Given the description of an element on the screen output the (x, y) to click on. 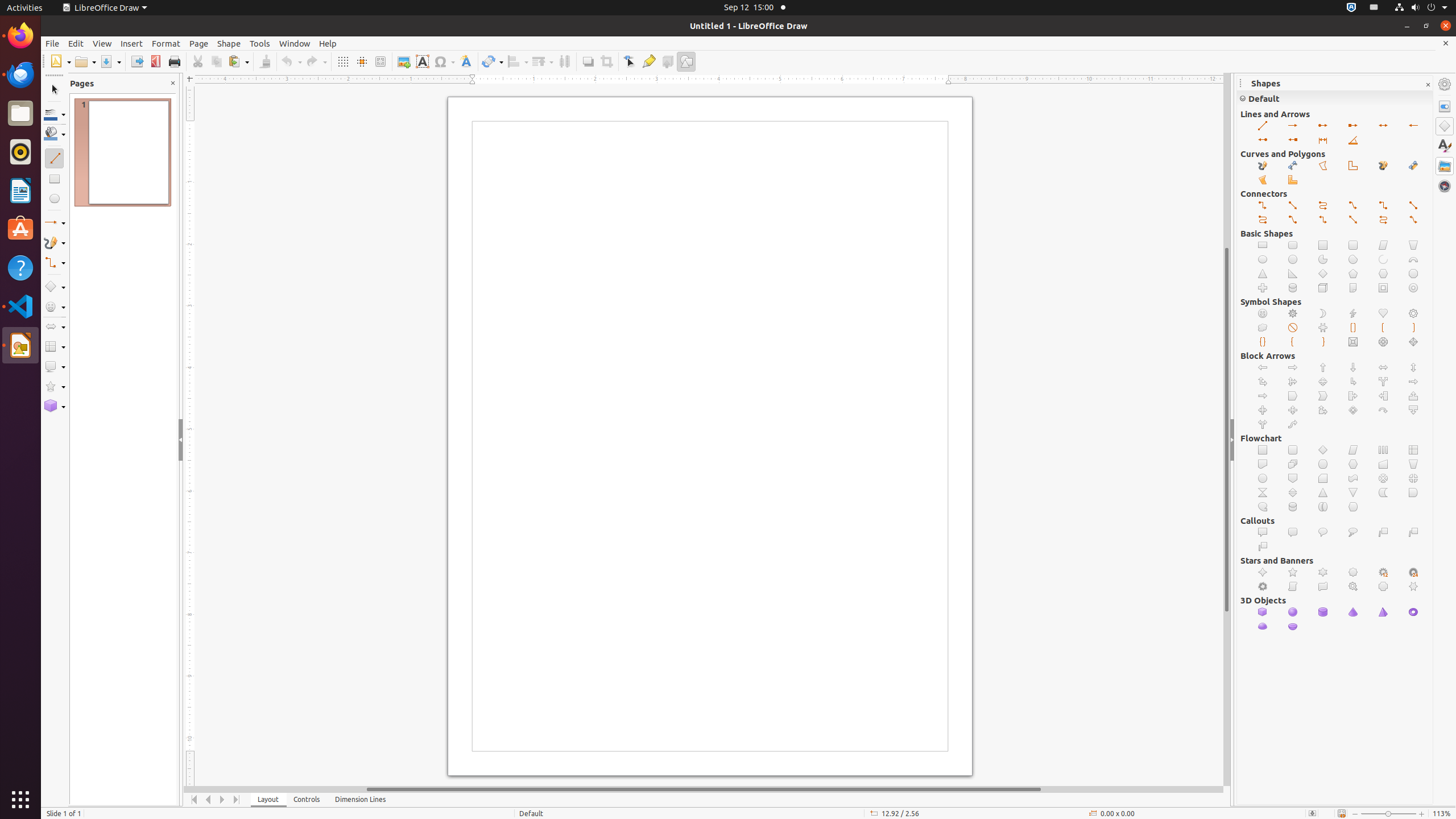
Styles Element type: radio-button (1444, 146)
Explosion Element type: list-item (1262, 586)
Torus Element type: list-item (1413, 612)
Curve, Filled Element type: list-item (1413, 165)
Visual Studio Code Element type: push-button (20, 306)
